Given the description of an element on the screen output the (x, y) to click on. 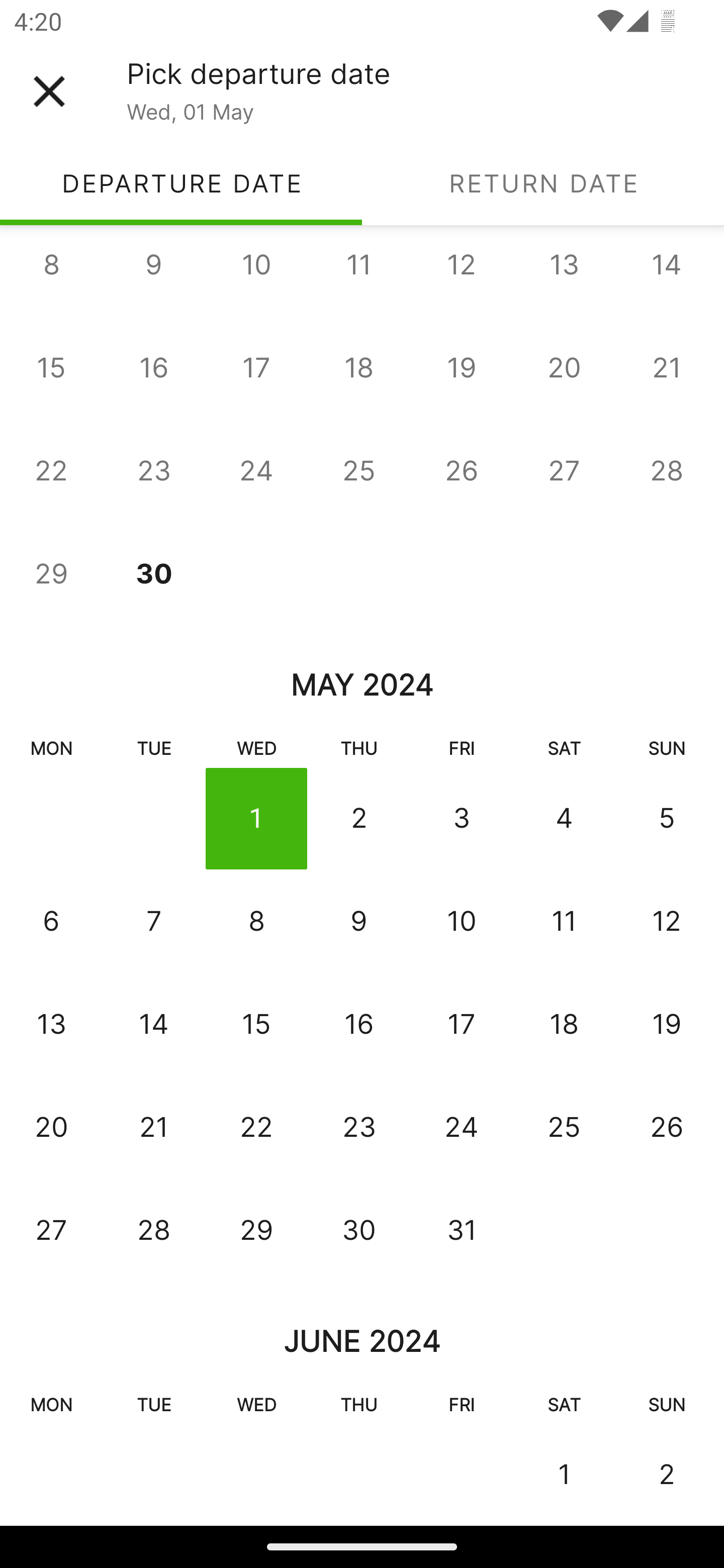
Return Date RETURN DATE (543, 183)
